Given the description of an element on the screen output the (x, y) to click on. 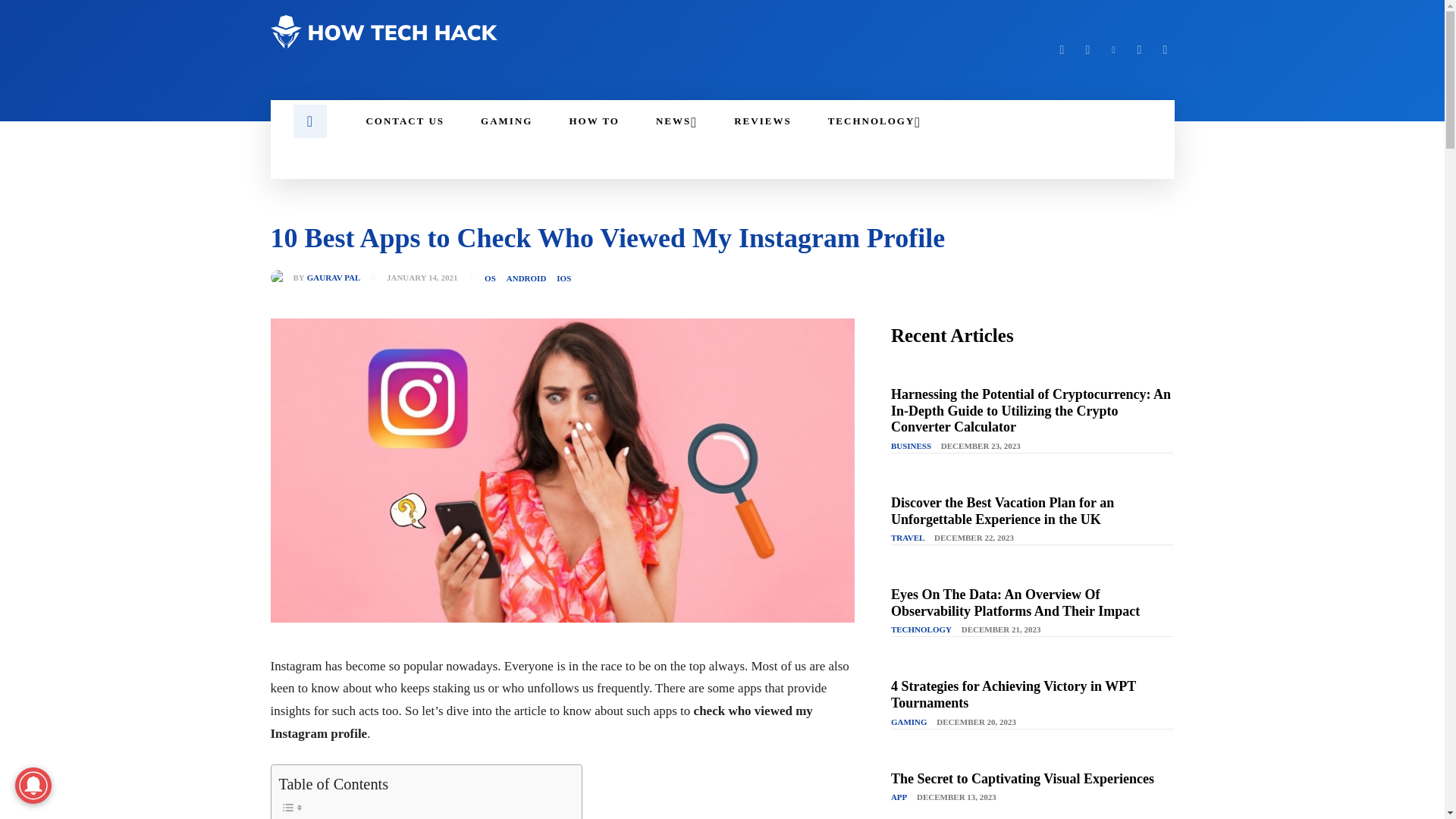
Instagram (1087, 49)
NEWS (676, 120)
Youtube (1164, 49)
CONTACT US (405, 120)
HOW TO (593, 120)
Gaurav Pal (280, 277)
Twitter (1138, 49)
Facebook (1061, 49)
Linkedin (1112, 49)
GAMING (506, 120)
